Given the description of an element on the screen output the (x, y) to click on. 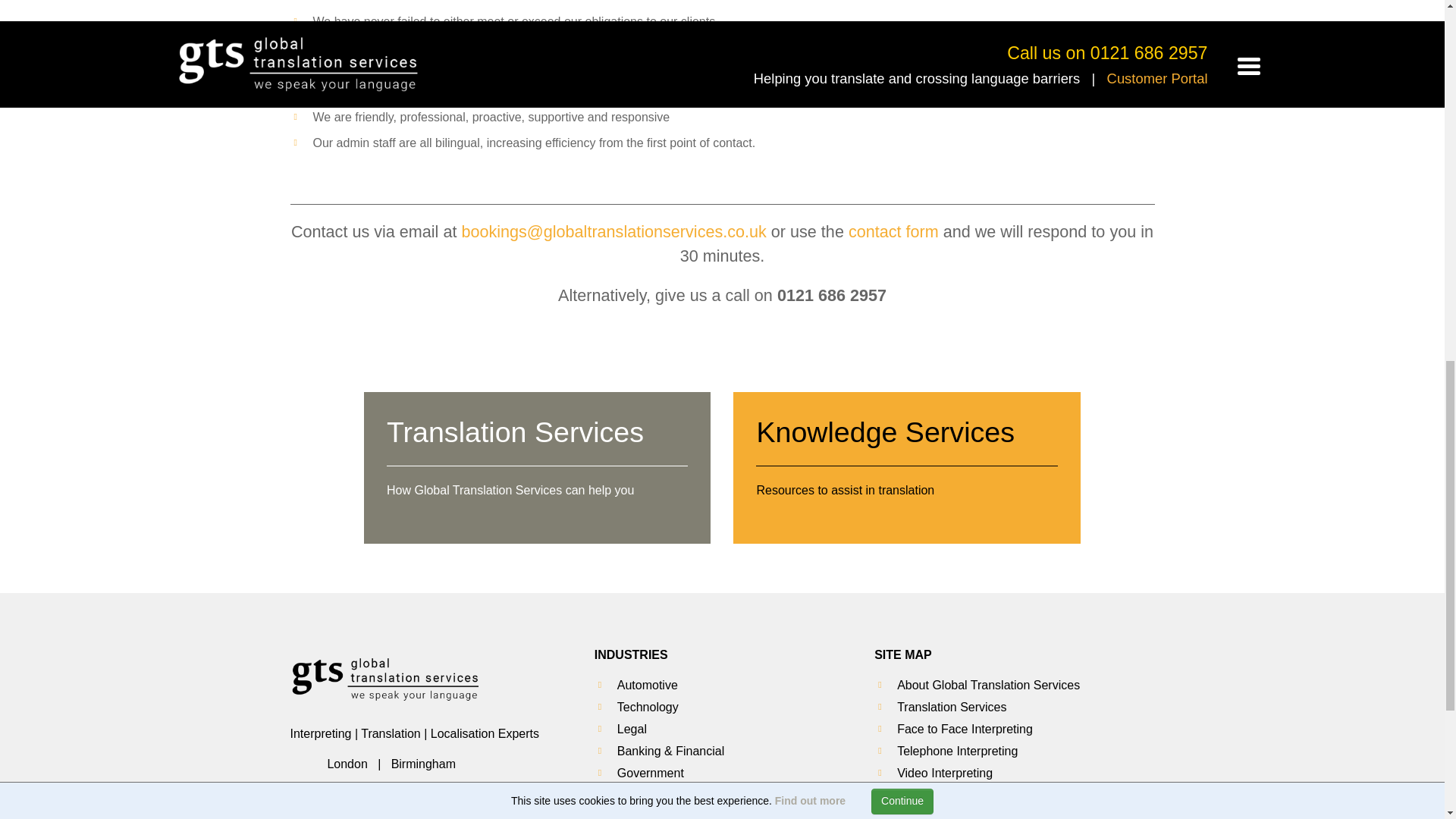
Birmingham (423, 763)
London (906, 467)
contact form (346, 763)
INDUSTRIES (893, 230)
Translation Services (631, 654)
About Global Translation Services (951, 707)
